Given the description of an element on the screen output the (x, y) to click on. 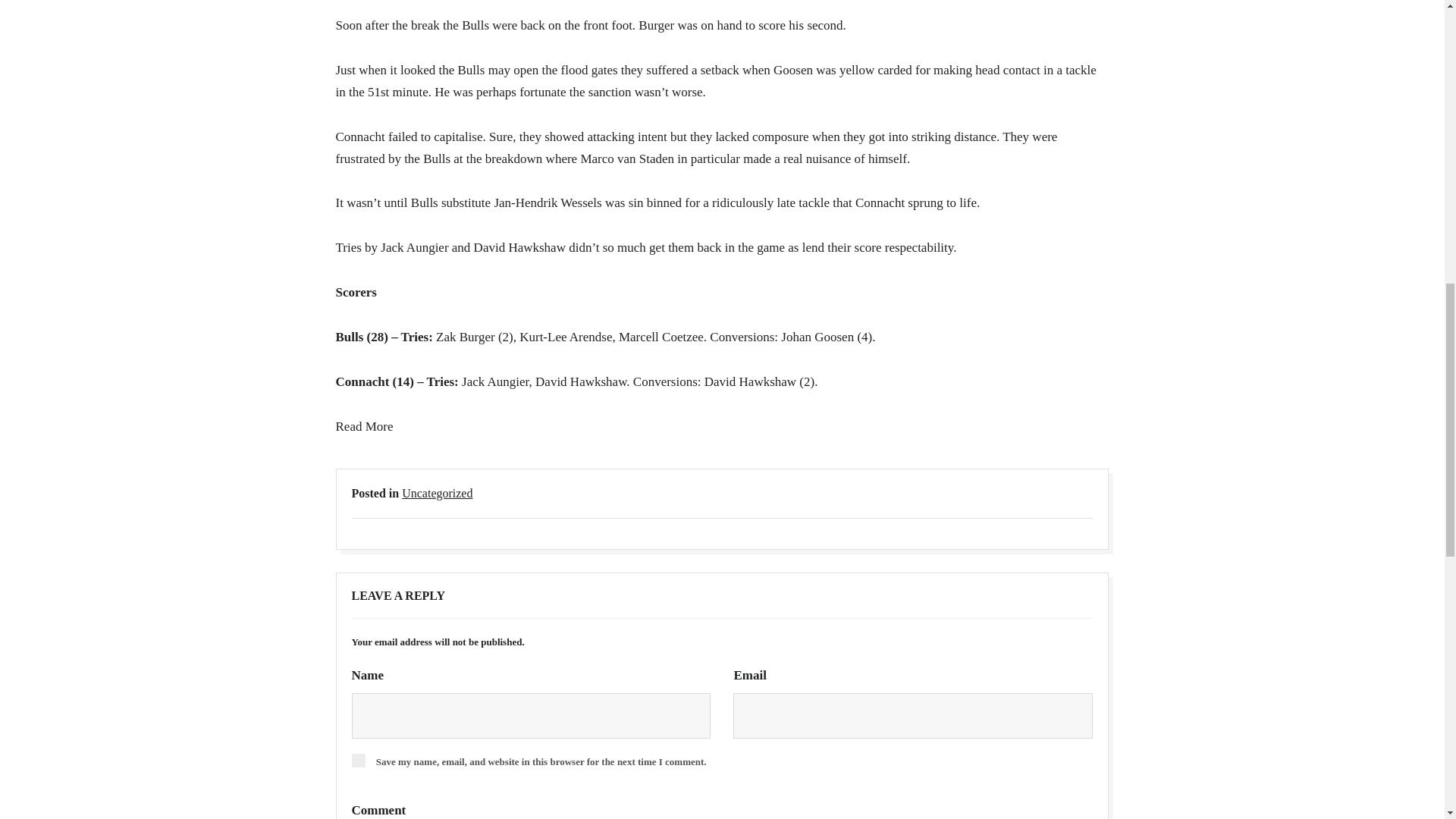
yes (358, 760)
